Given the description of an element on the screen output the (x, y) to click on. 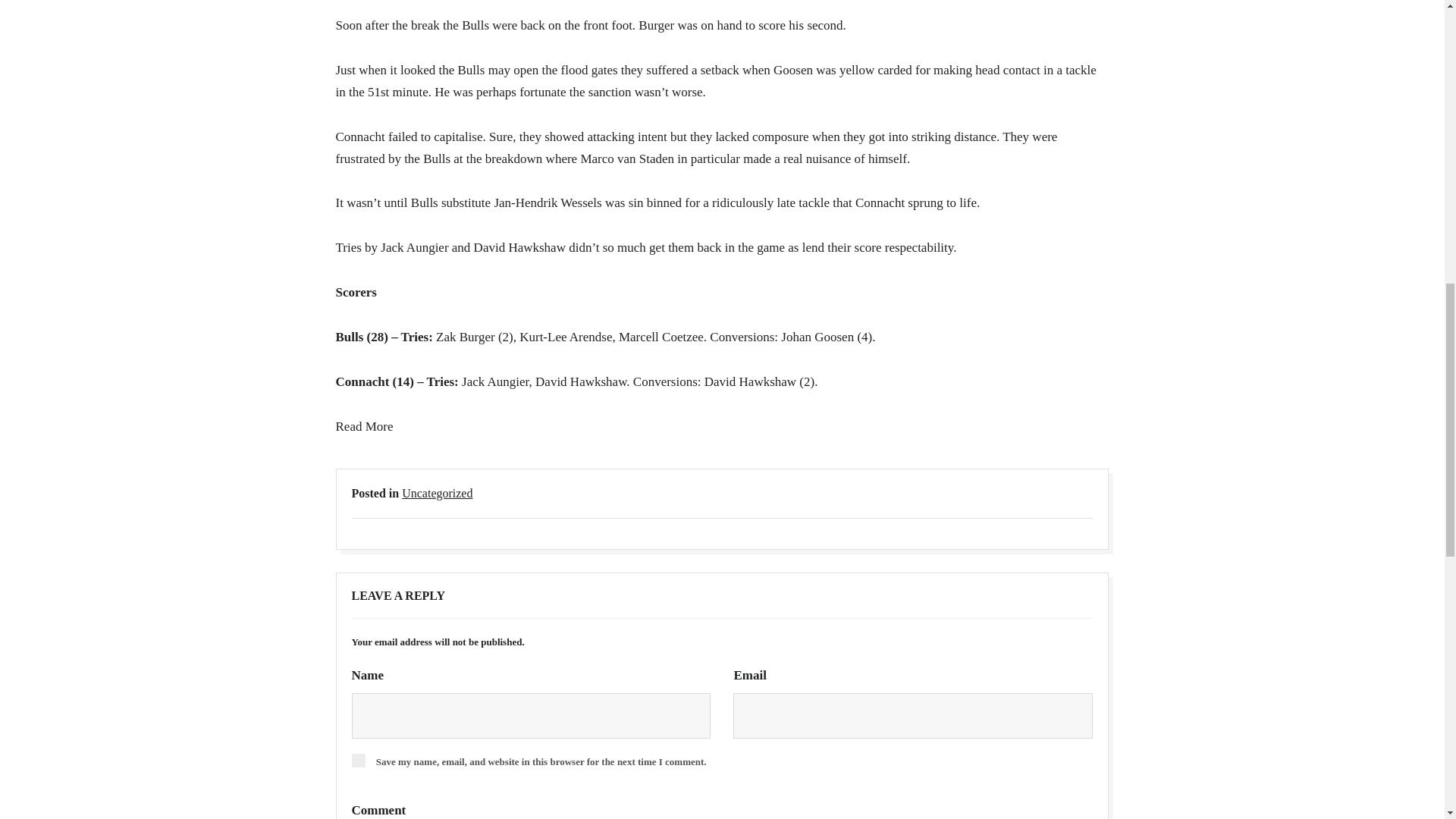
yes (358, 760)
